Given the description of an element on the screen output the (x, y) to click on. 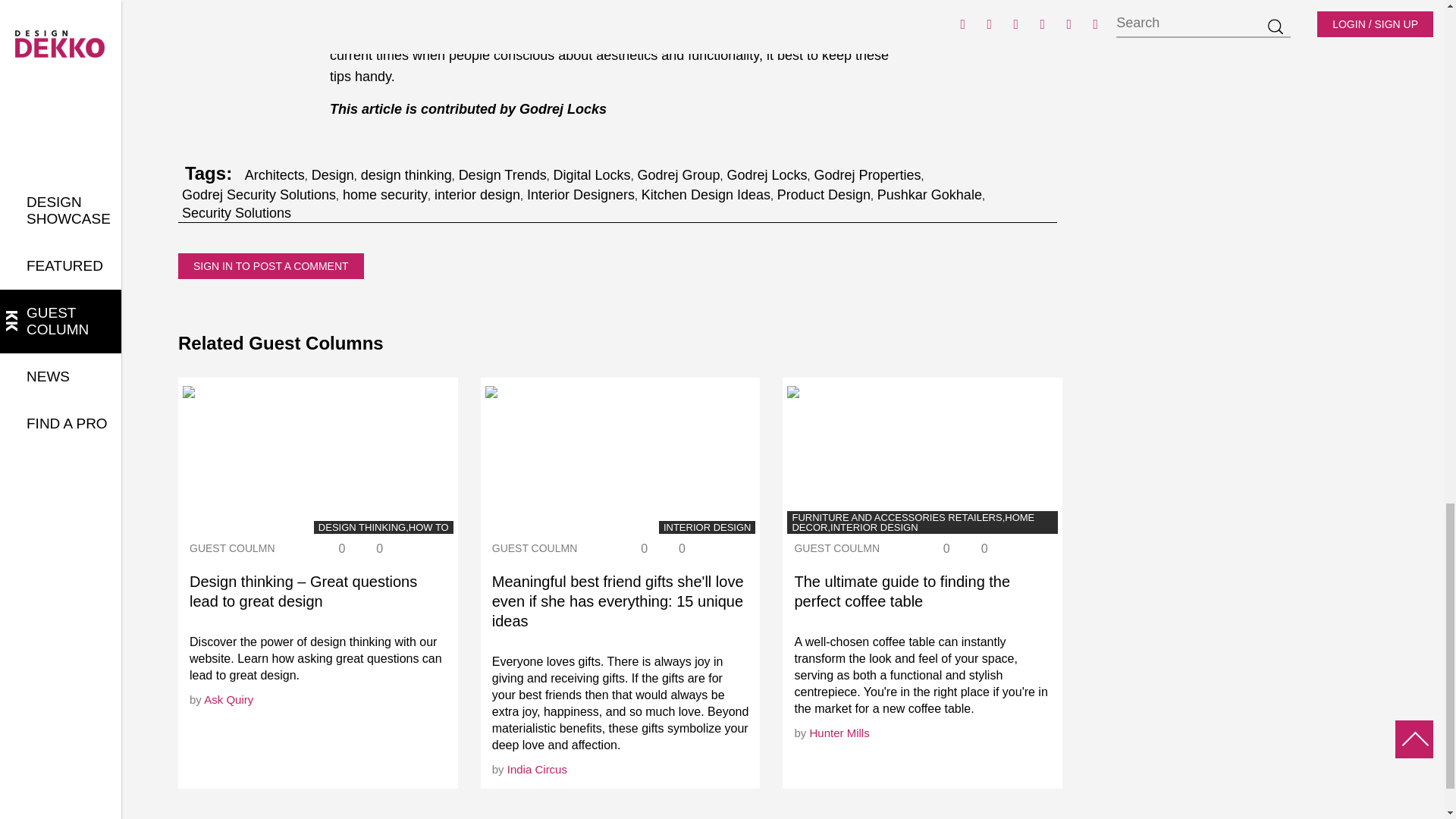
Godrej Security Solutions (259, 194)
interior design (476, 194)
Godrej Properties (866, 175)
home security (385, 194)
Godrej Group (678, 175)
Godrej Locks (766, 175)
Digital Locks (591, 175)
design thinking (406, 175)
Interior Designers (580, 194)
Design (332, 175)
